Given the description of an element on the screen output the (x, y) to click on. 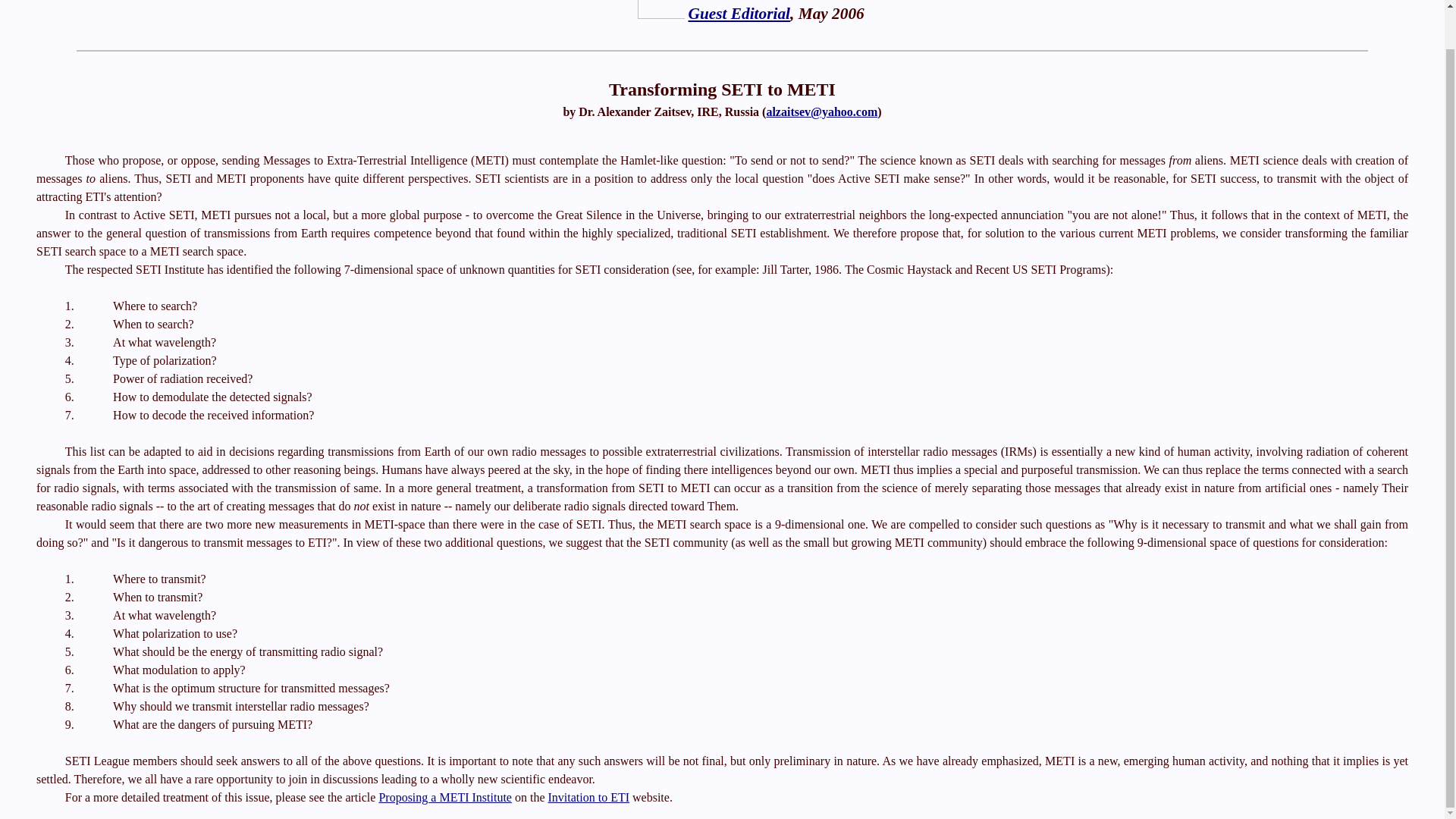
Invitation to ETI (587, 797)
Proposing a METI Institute (445, 797)
Guest Editorial (739, 13)
